Given the description of an element on the screen output the (x, y) to click on. 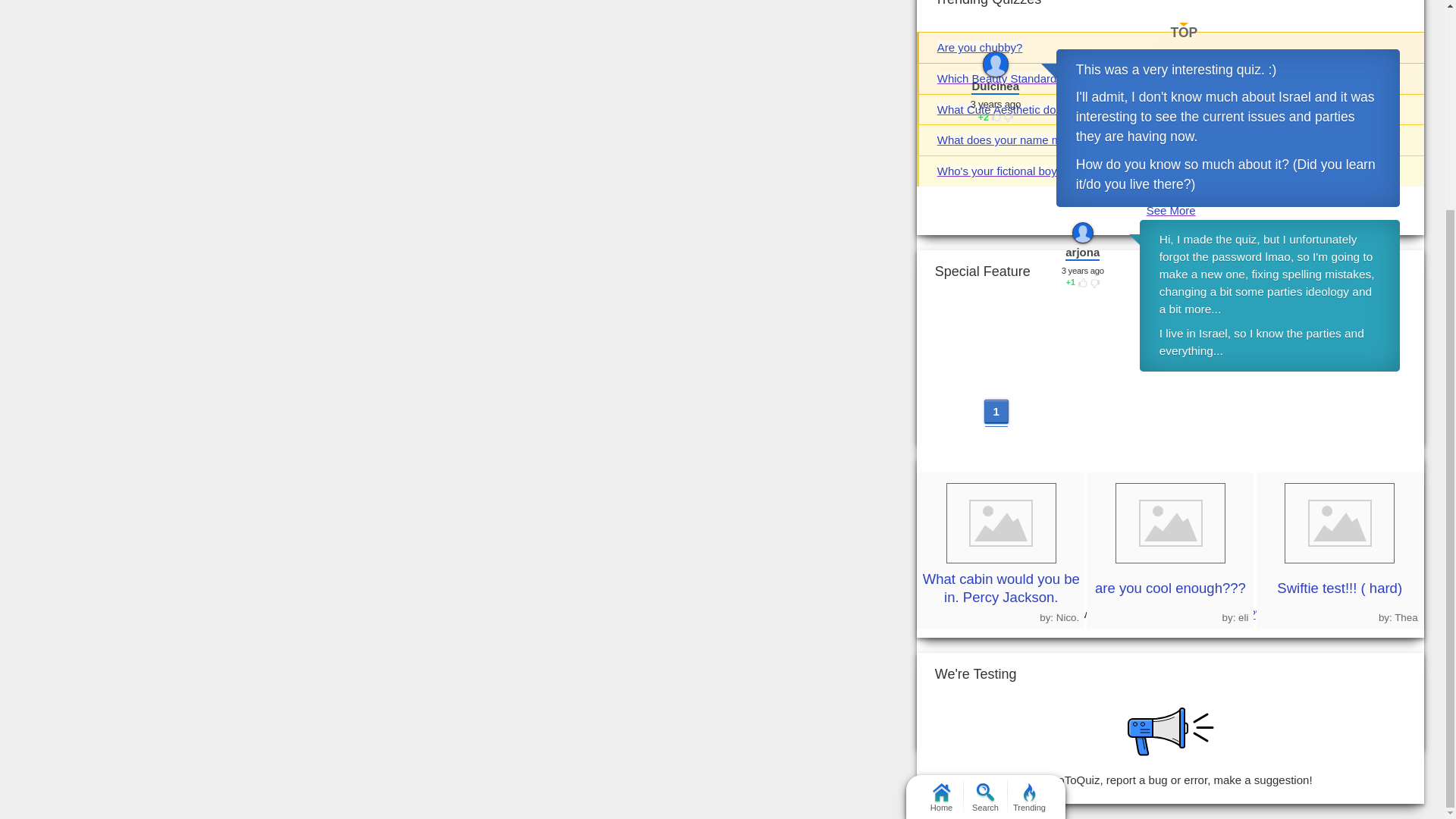
quiz categories (1166, 703)
Send Feedback (974, 779)
Submit (964, 2)
Home (940, 524)
Are you chubby? (980, 47)
GoToQuiz.com (1148, 668)
new (1221, 32)
What Cute Aesthetic do you have? (1024, 109)
Send Feedback (1170, 731)
Who's your fictional boyfriend? (1014, 170)
